Given the description of an element on the screen output the (x, y) to click on. 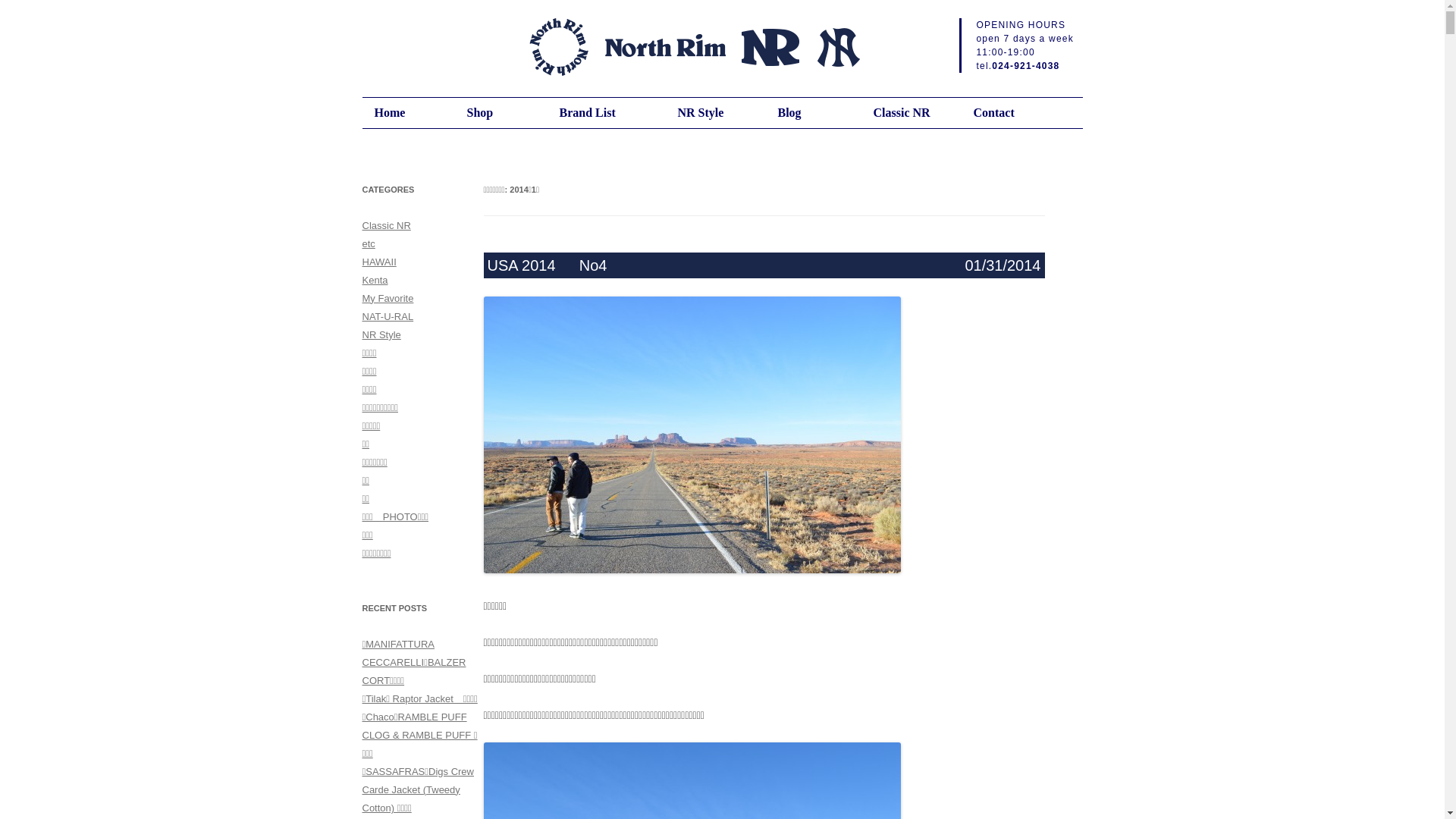
Classic NR Element type: text (386, 225)
Contact Element type: text (1022, 112)
Blog Element type: text (819, 112)
Shop Element type: text (508, 112)
NR Style Element type: text (381, 334)
Northrim Blog Element type: hover (702, 49)
HAWAII Element type: text (379, 261)
NAT-U-RAL Element type: text (388, 316)
etc Element type: text (368, 243)
Classic NR Element type: text (918, 112)
NR Style Element type: text (722, 112)
Home Element type: text (416, 112)
Brand List Element type: text (608, 112)
Kenta Element type: text (375, 279)
My Favorite Element type: text (388, 298)
